Given the description of an element on the screen output the (x, y) to click on. 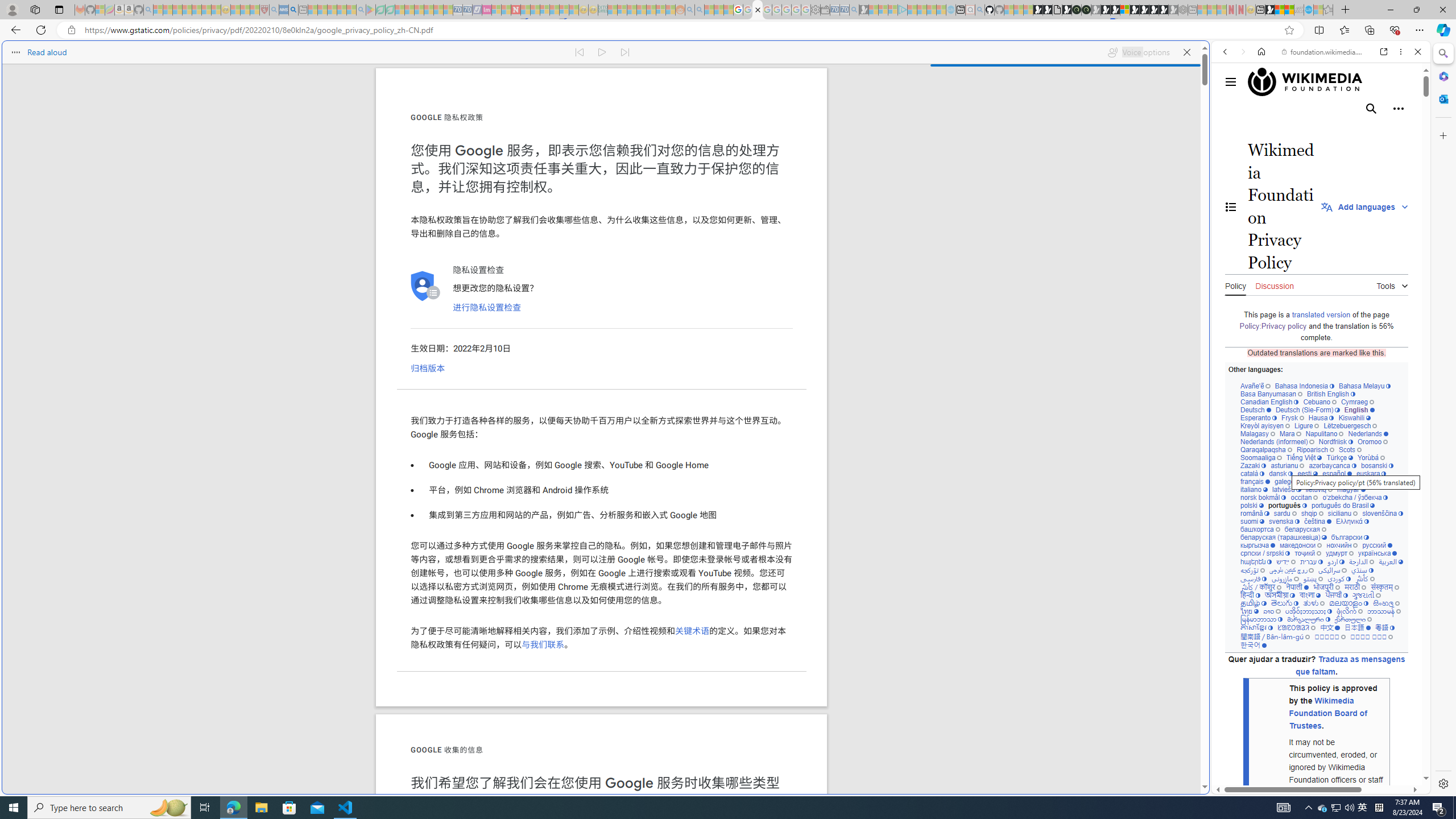
Ligure (1306, 425)
Bahasa Indonesia (1303, 385)
Kiswahili (1354, 417)
Esperanto (1258, 417)
Malagasy (1257, 433)
Bahasa Melayu (1364, 385)
Robert H. Shmerling, MD - Harvard Health - Sleeping (263, 9)
Tools (1391, 284)
Play Free Online Games | Games from Microsoft Start (1144, 9)
Scots (1350, 449)
Oromoo (1372, 441)
